Given the description of an element on the screen output the (x, y) to click on. 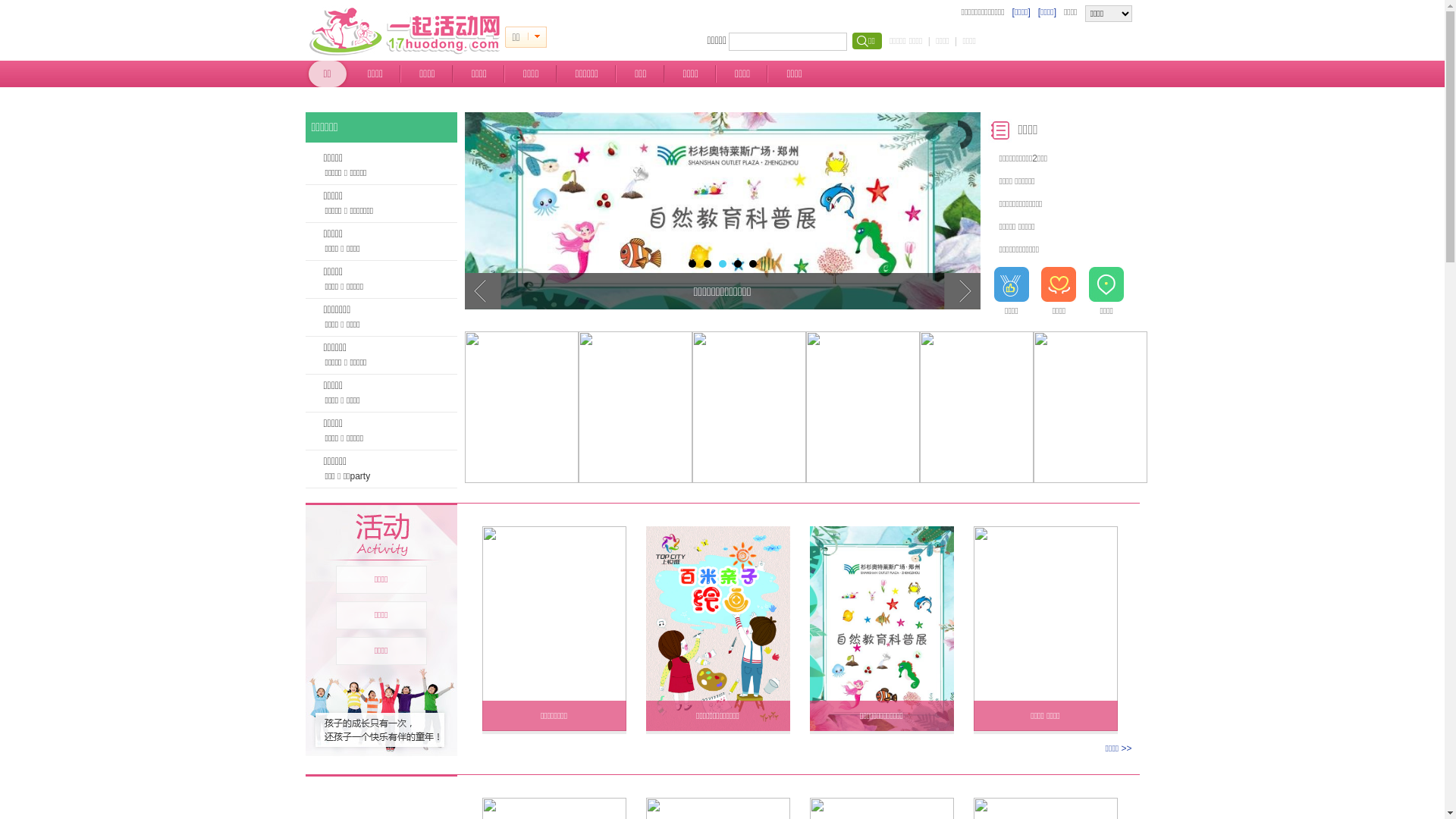
0 Element type: text (536, 36)
